Given the description of an element on the screen output the (x, y) to click on. 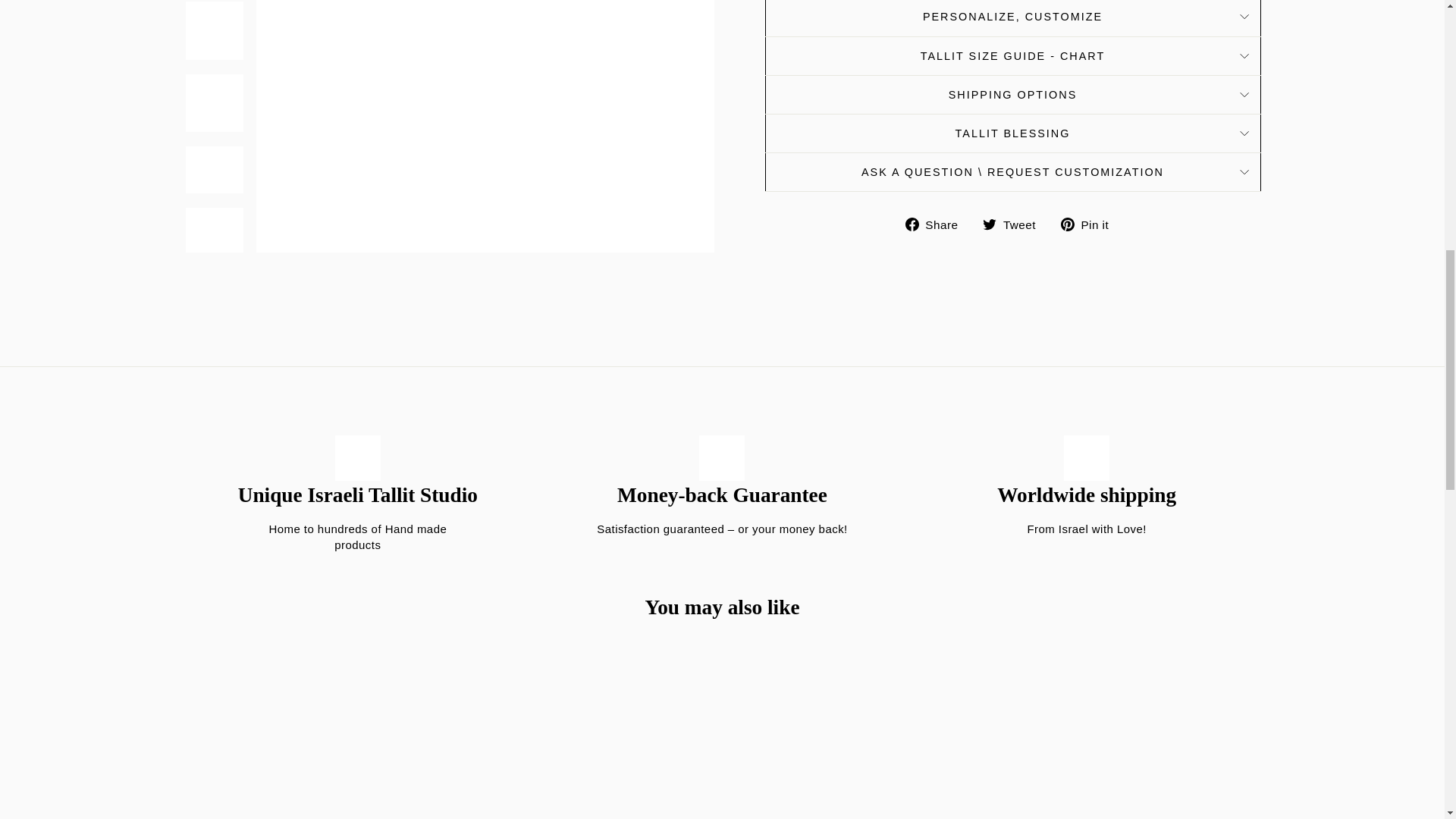
Pin on Pinterest (1090, 223)
Share on Facebook (937, 223)
Tweet on Twitter (1014, 223)
